Given the description of an element on the screen output the (x, y) to click on. 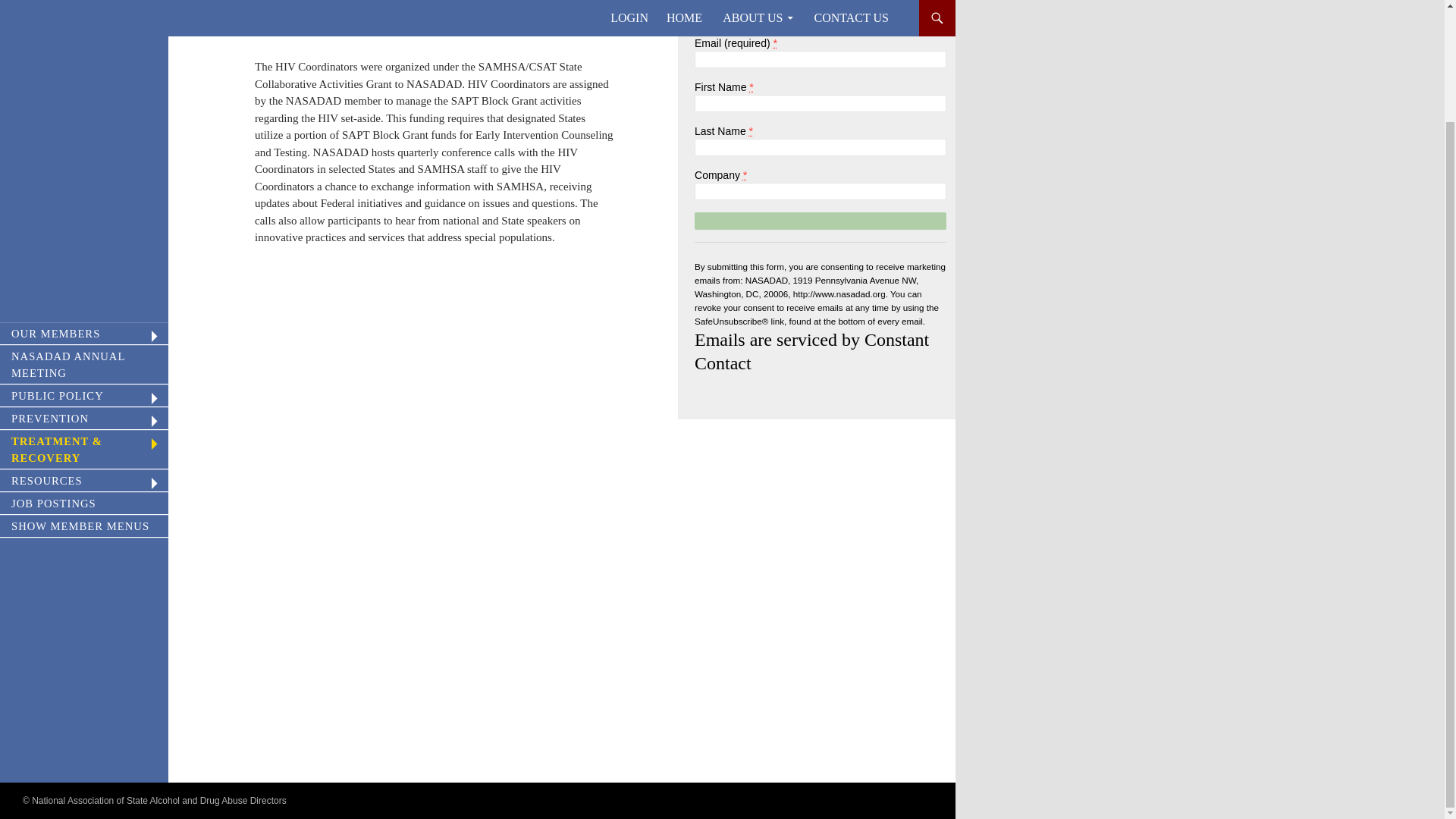
Emails are serviced by Constant Contact (811, 351)
PUBLIC POLICY (84, 263)
Sign Up (820, 221)
Sign Up (820, 221)
PREVENTION (84, 286)
NASADAD ANNUAL MEETING (84, 231)
OUR MEMBERS (84, 201)
